Given the description of an element on the screen output the (x, y) to click on. 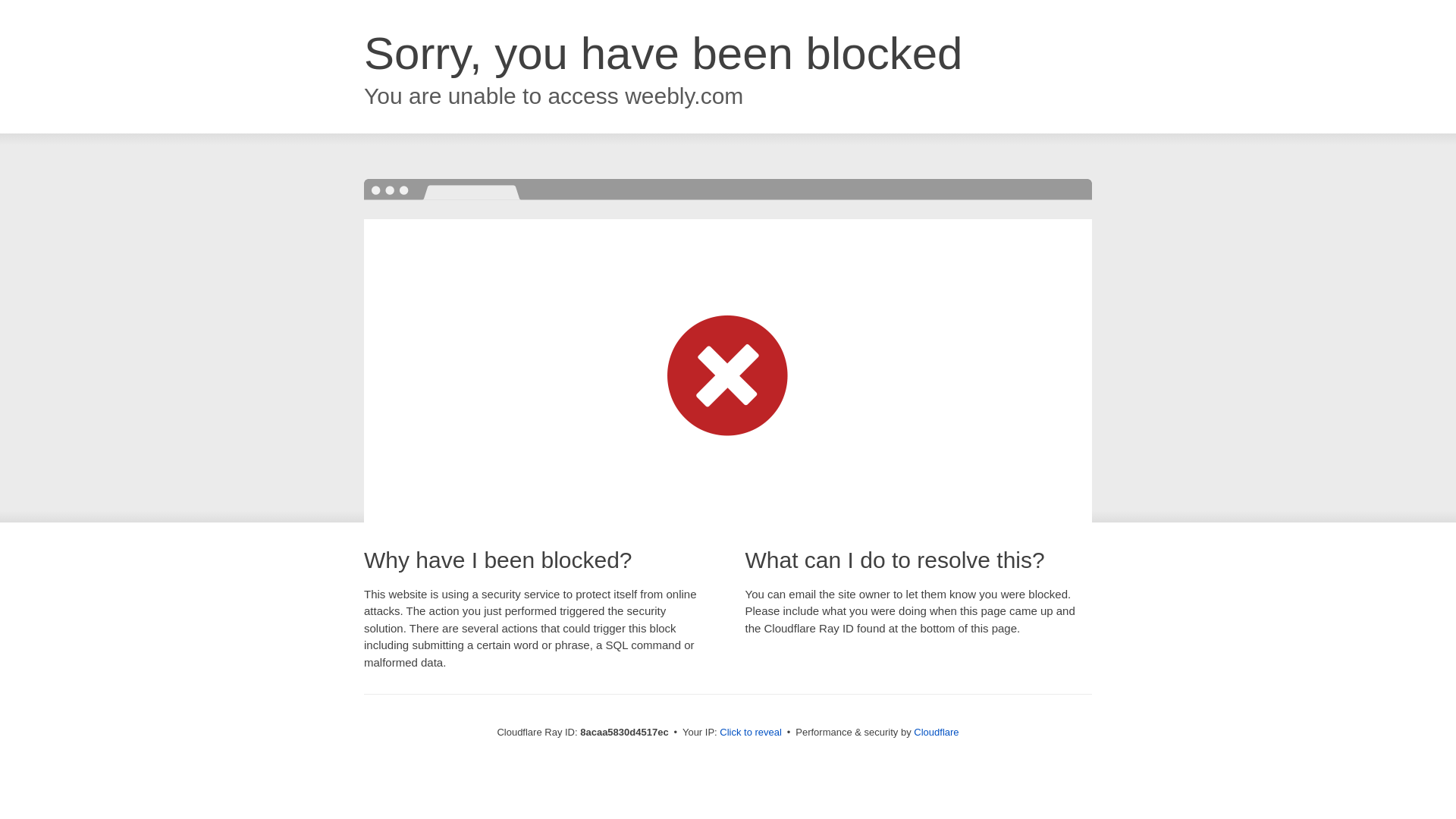
Cloudflare (936, 731)
Click to reveal (750, 732)
